Given the description of an element on the screen output the (x, y) to click on. 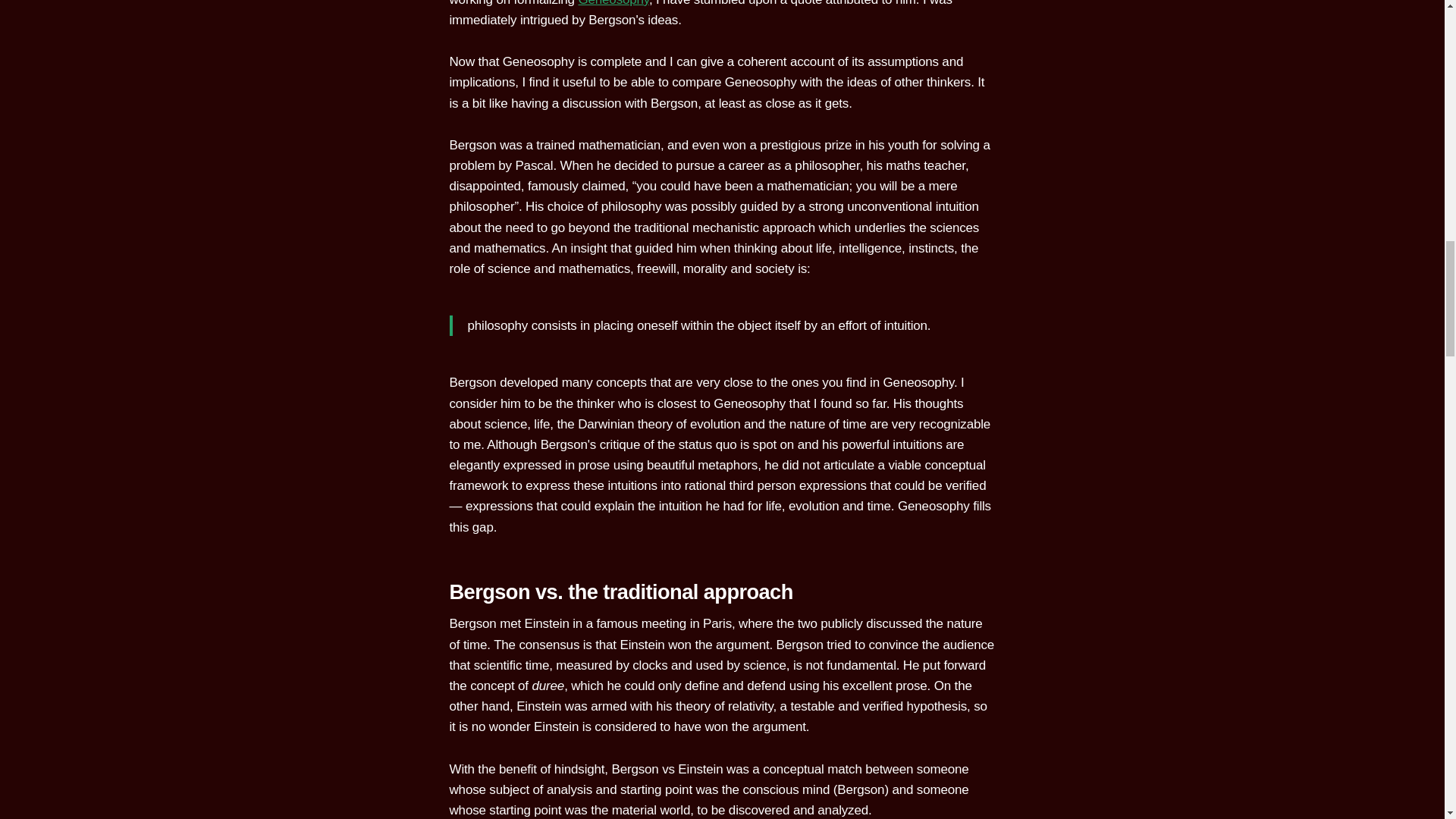
Geneosophy (612, 3)
